Given the description of an element on the screen output the (x, y) to click on. 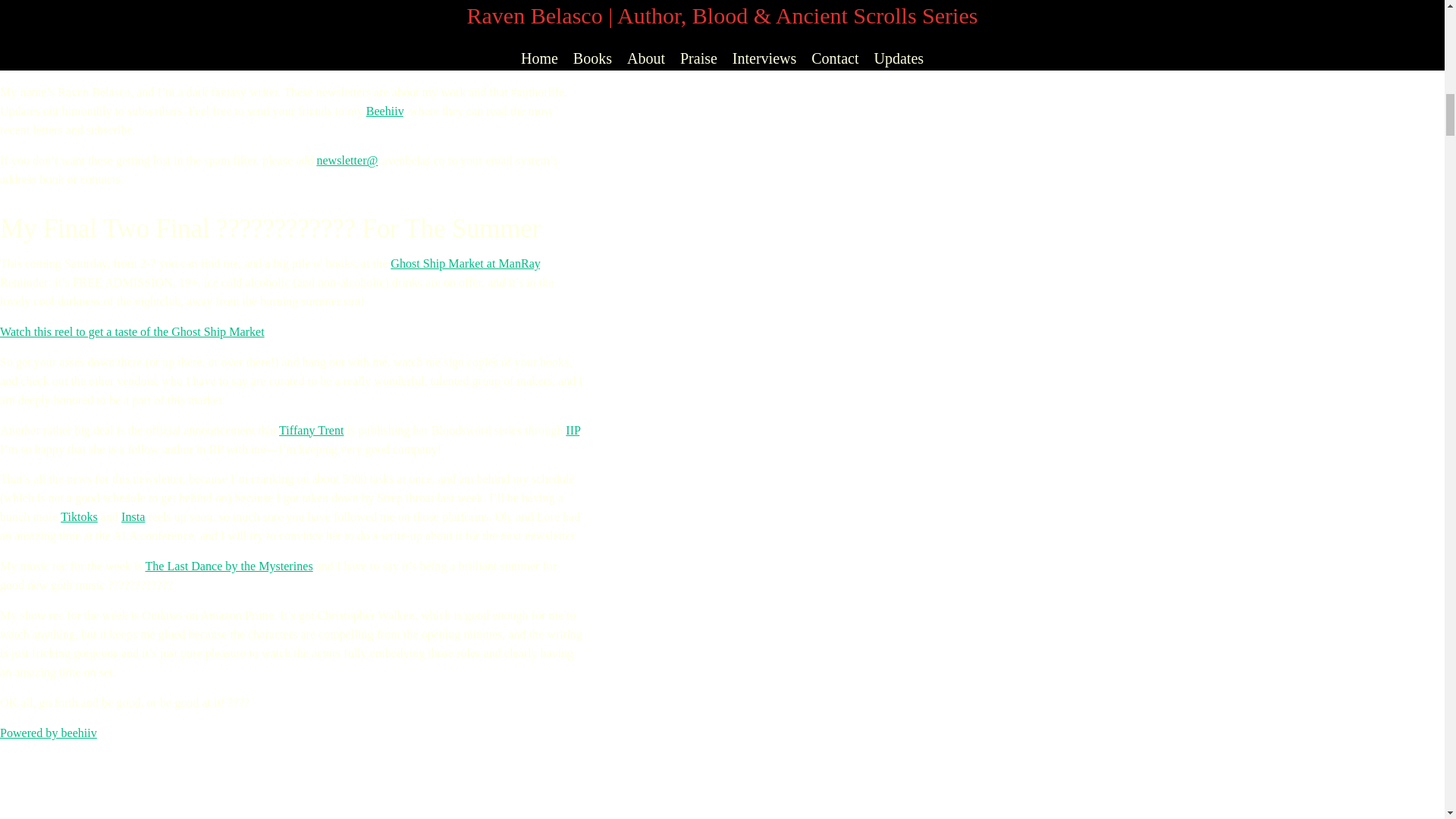
Ghost Ship Market at ManRay (465, 263)
Beehiiv (384, 110)
